Given the description of an element on the screen output the (x, y) to click on. 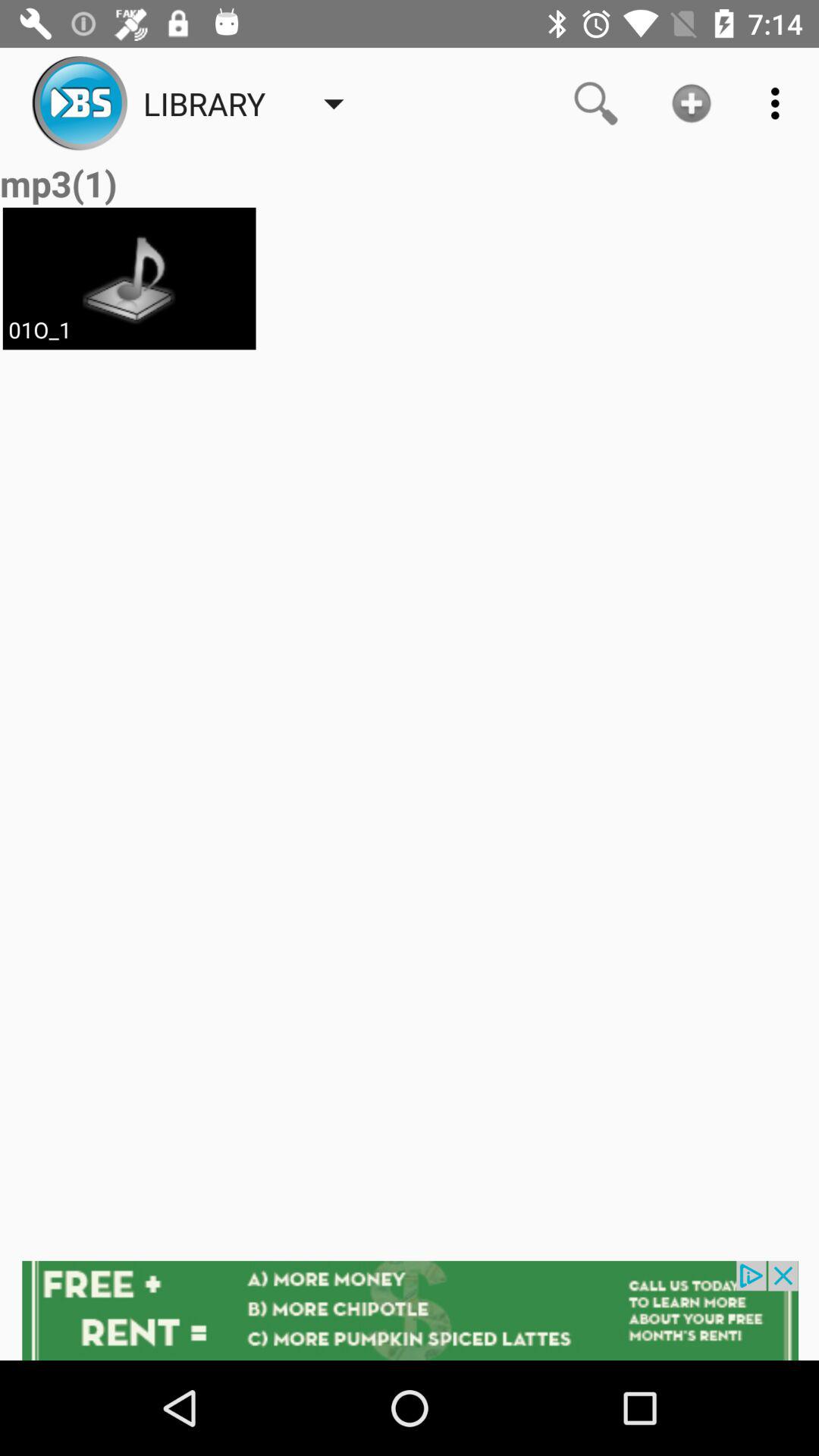
open advertisement (409, 1310)
